Given the description of an element on the screen output the (x, y) to click on. 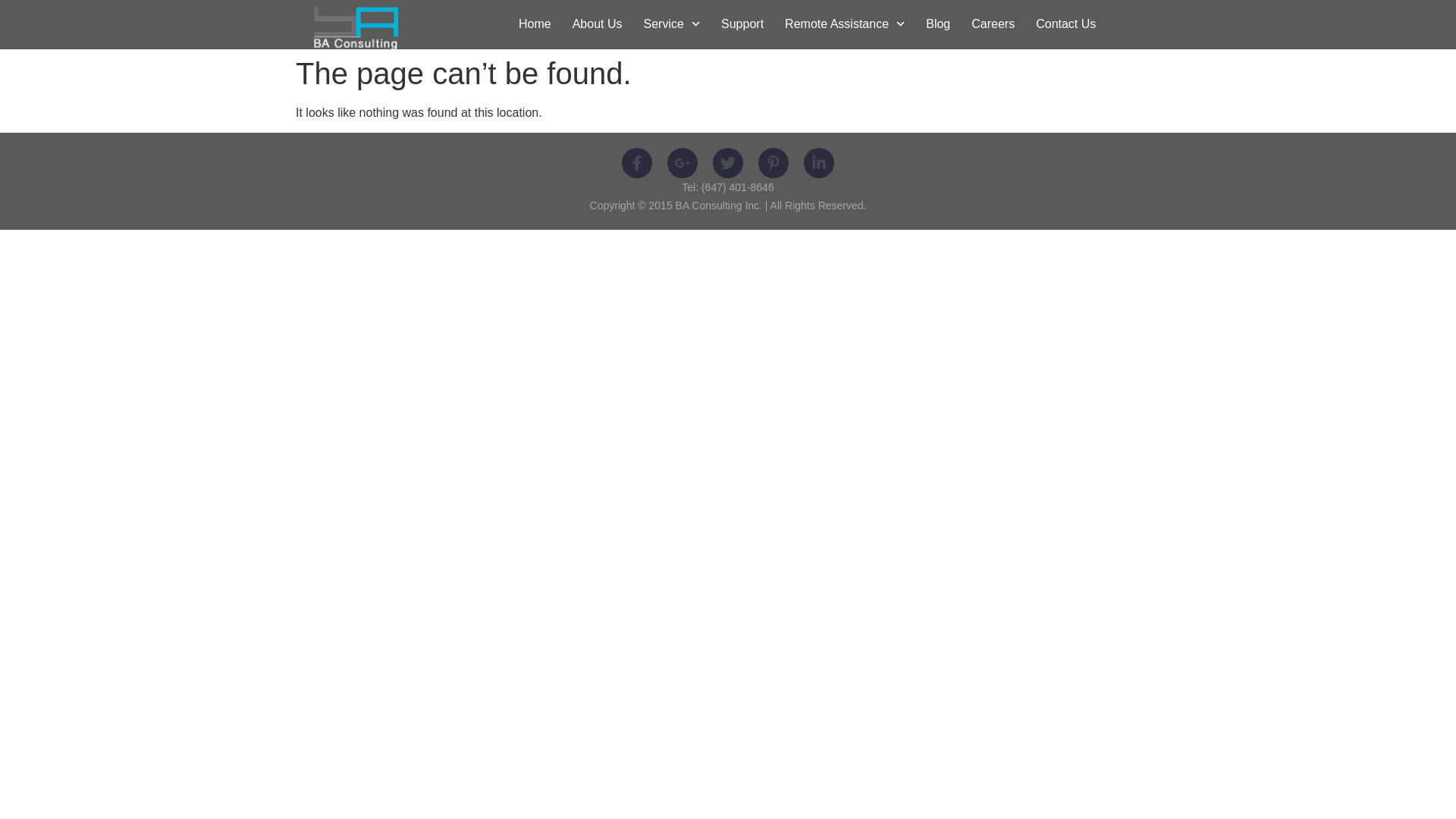
Blog Element type: text (938, 24)
Remote Assistance Element type: text (844, 24)
Careers Element type: text (992, 24)
About Us Element type: text (597, 24)
Home Element type: text (534, 24)
Service Element type: text (671, 24)
Contact Us Element type: text (1065, 24)
Support Element type: text (742, 24)
